Given the description of an element on the screen output the (x, y) to click on. 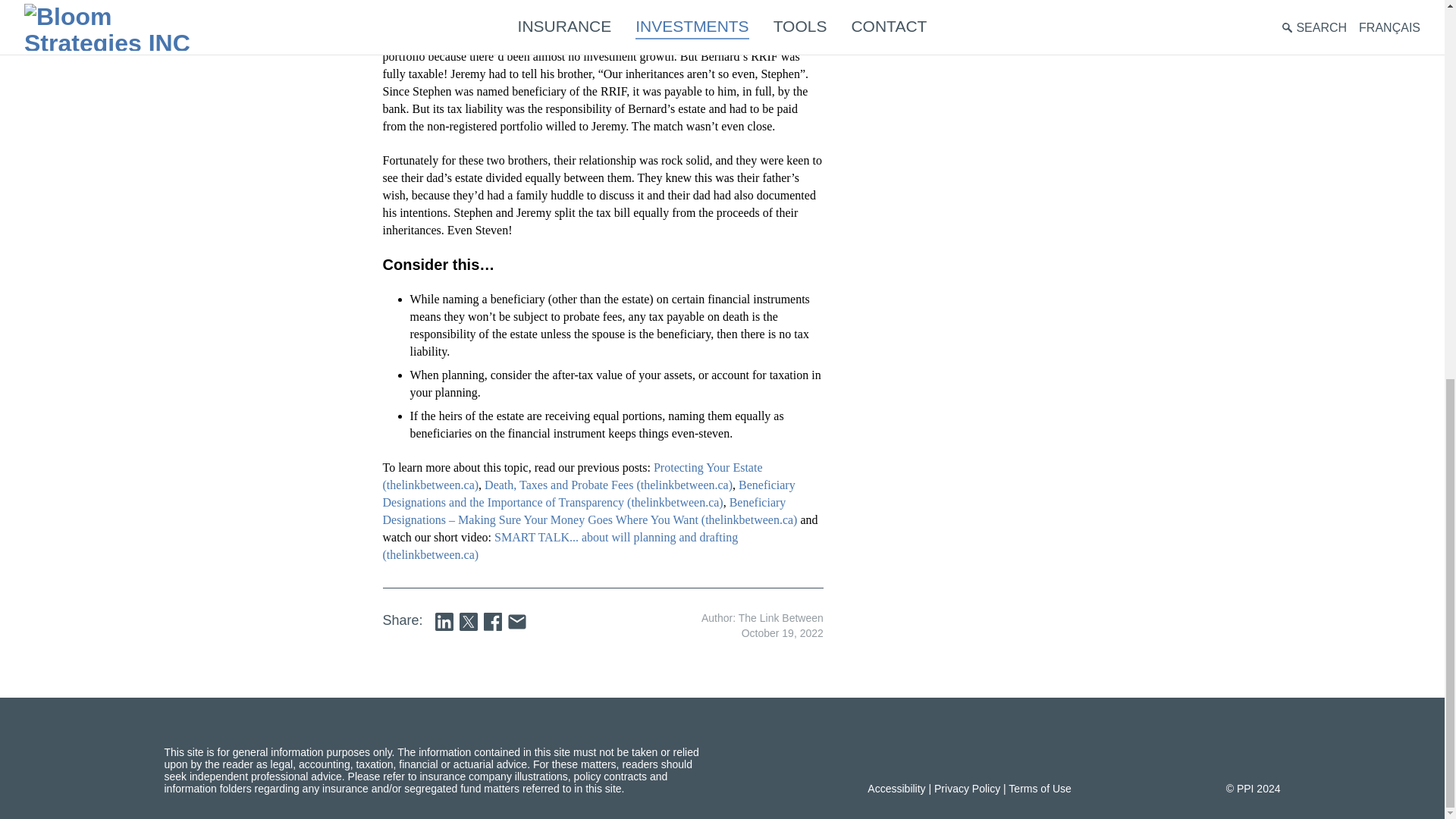
Share by Email (516, 621)
Share on Facebook (492, 621)
Share on LinkedIn (443, 621)
Privacy Policy (967, 788)
Share on X (468, 621)
Terms of Use (1039, 788)
Accessibility (895, 788)
